Given the description of an element on the screen output the (x, y) to click on. 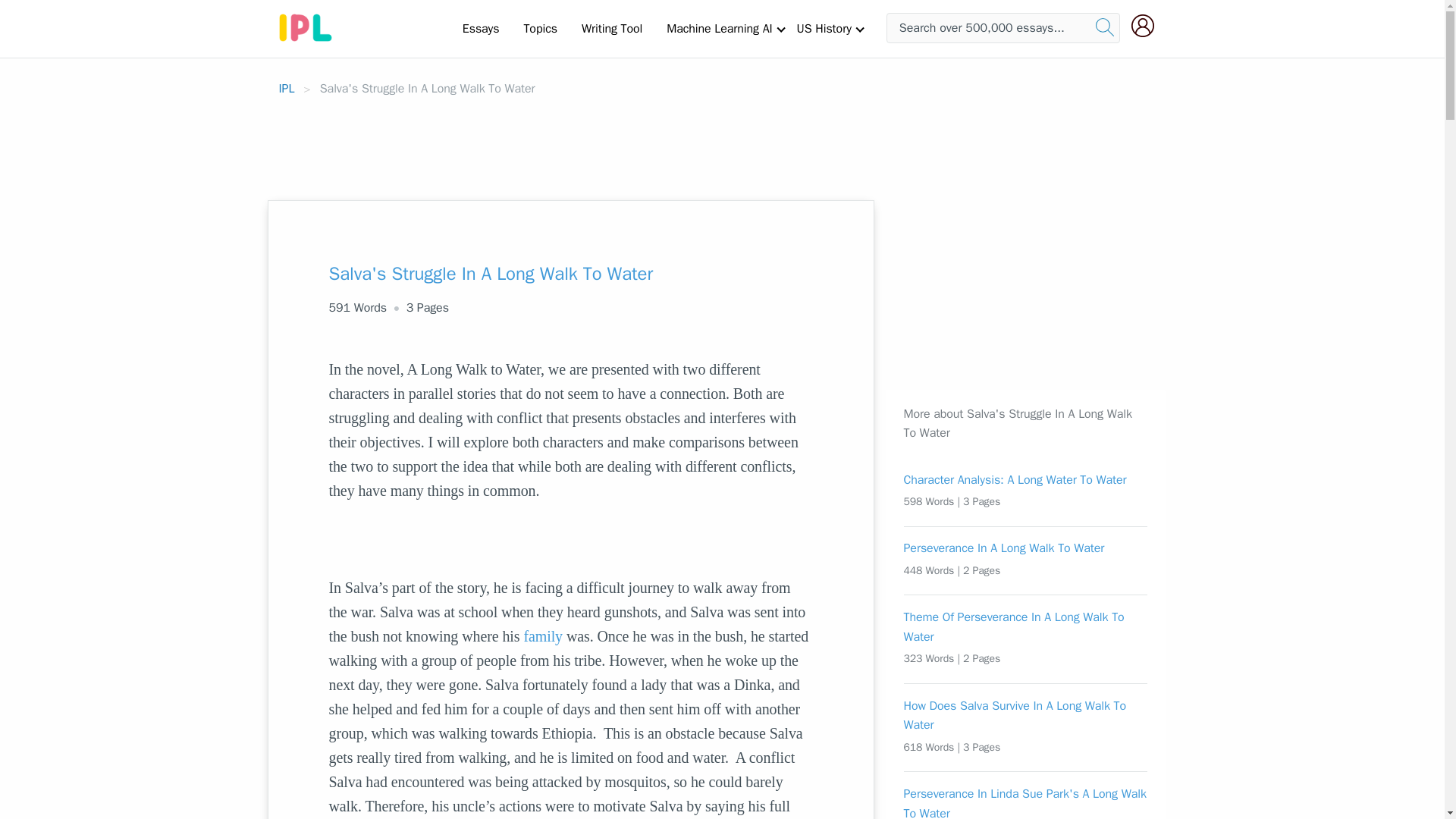
Machine Learning AI (718, 28)
US History (823, 28)
Writing Tool (611, 28)
family (542, 636)
Essays (480, 28)
Topics (540, 28)
IPL (287, 88)
